Given the description of an element on the screen output the (x, y) to click on. 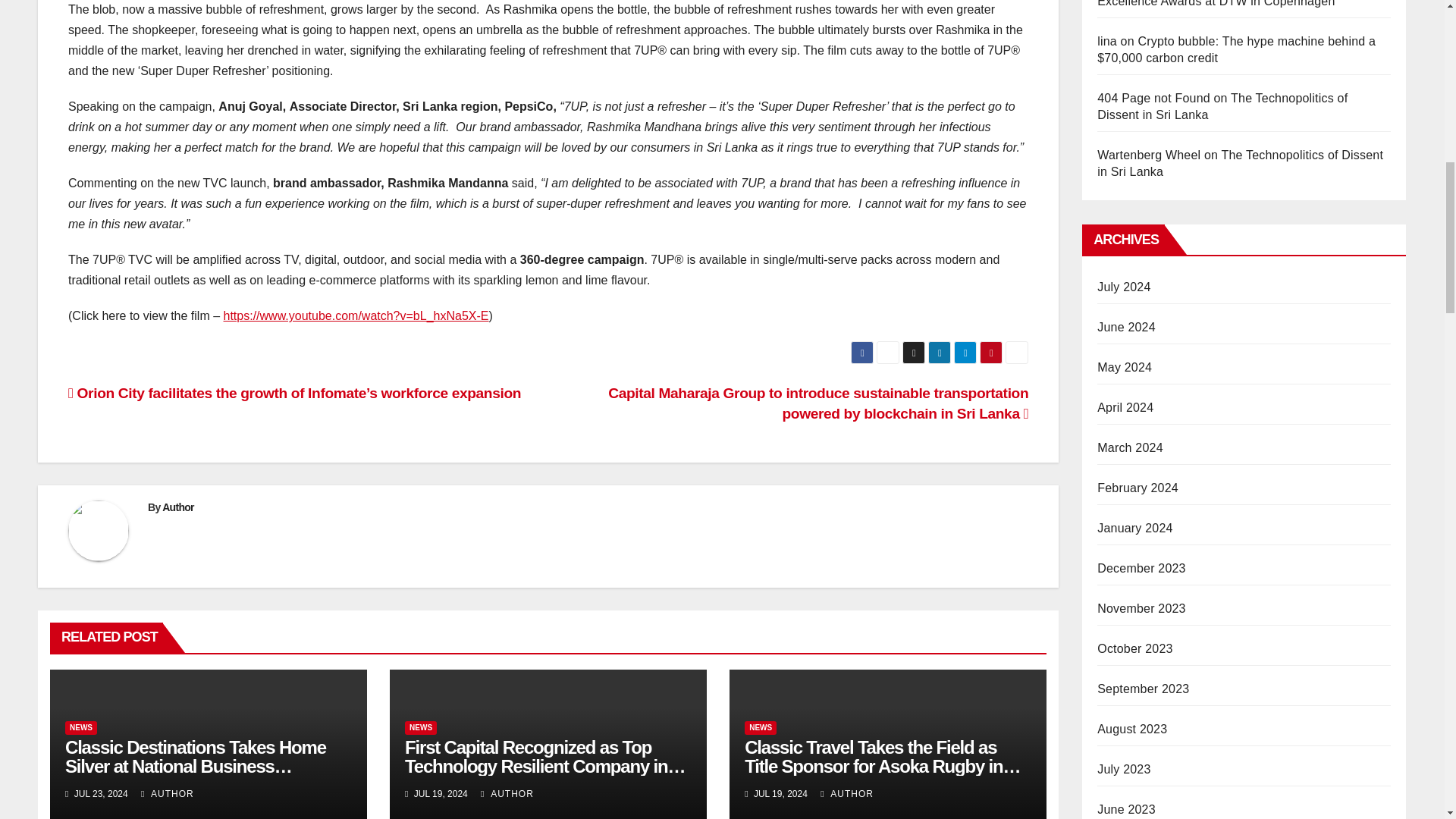
AUTHOR (507, 793)
Author (177, 507)
AUTHOR (847, 793)
NEWS (420, 727)
AUTHOR (167, 793)
NEWS (760, 727)
NEWS (81, 727)
